Given the description of an element on the screen output the (x, y) to click on. 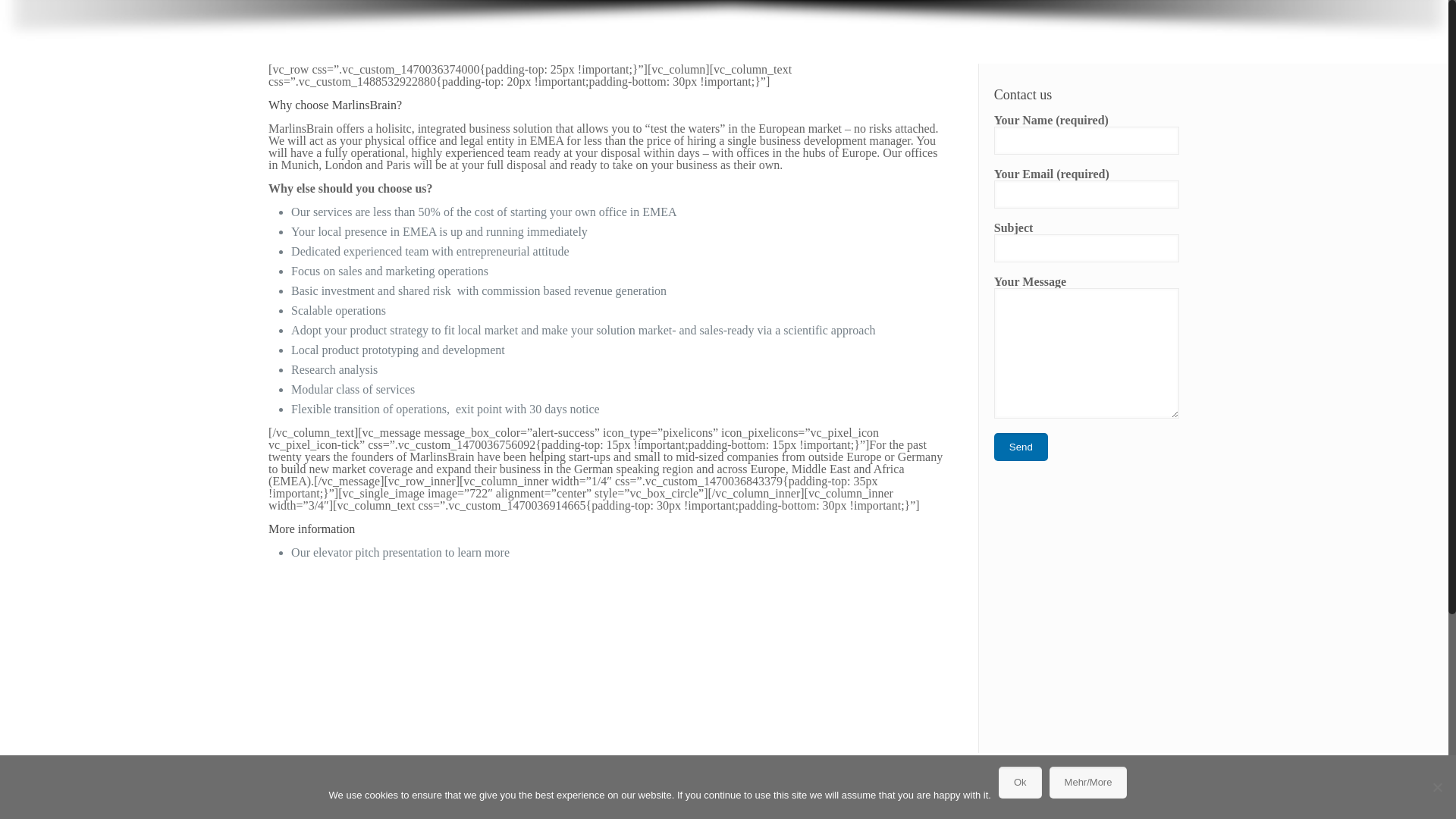
No (1436, 517)
Ok (1020, 513)
Send (1021, 447)
Send (1021, 447)
